Given the description of an element on the screen output the (x, y) to click on. 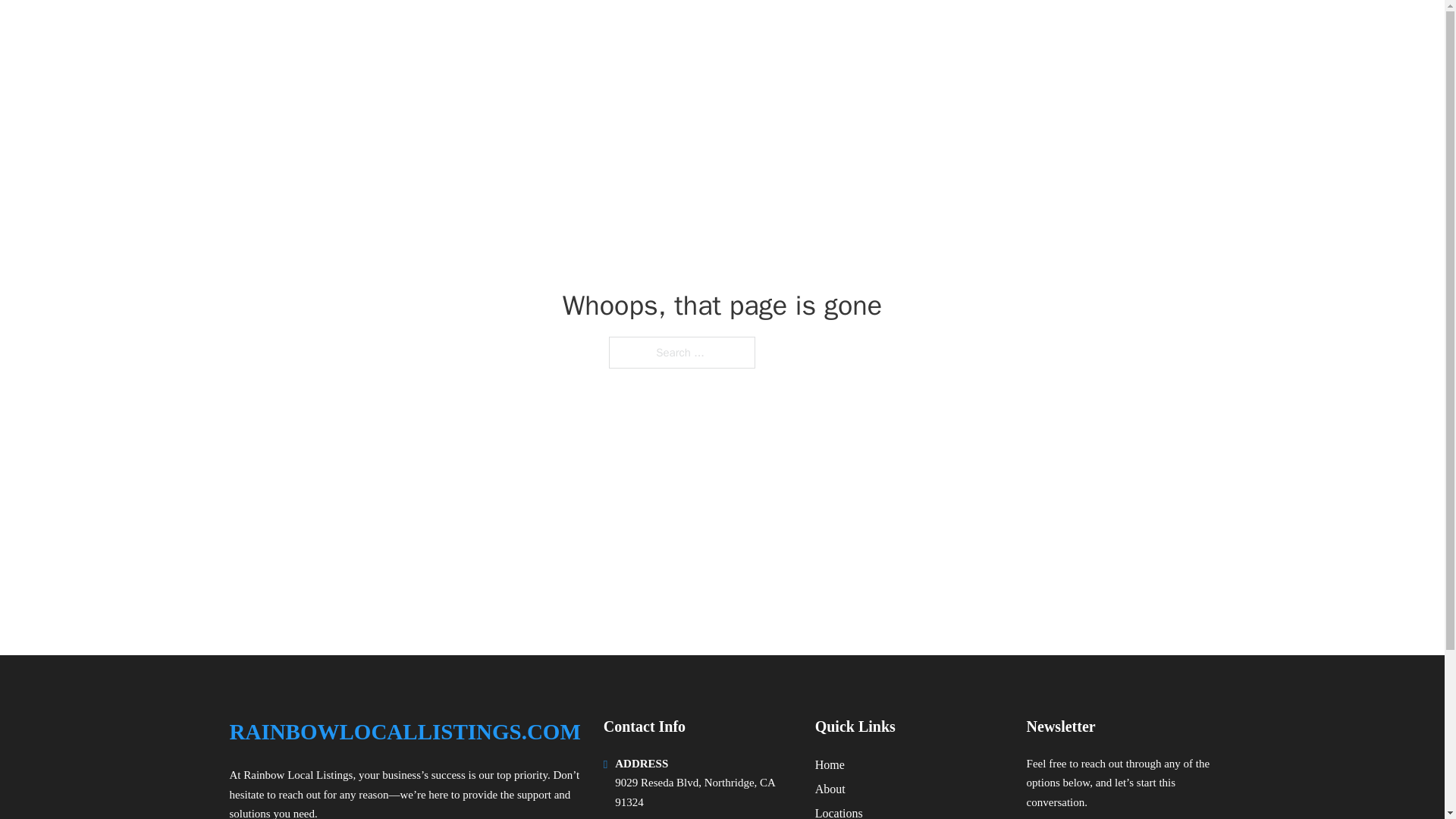
Locations (839, 811)
About (830, 788)
RAINBOWLOCALLISTINGS.COM (421, 31)
LOCATIONS (1098, 31)
RAINBOWLOCALLISTINGS.COM (403, 732)
Home (829, 764)
HOME (1025, 31)
